Given the description of an element on the screen output the (x, y) to click on. 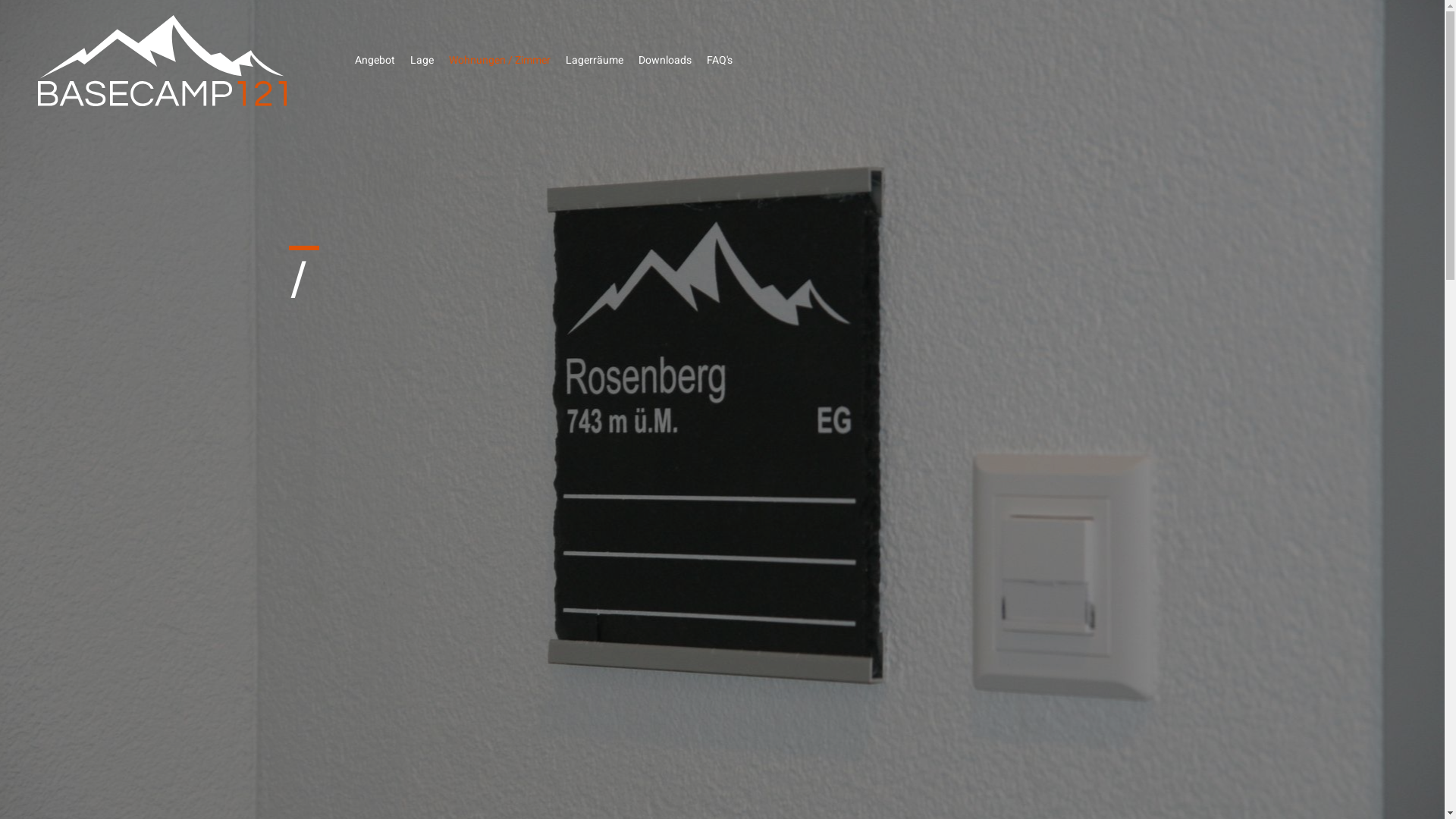
FAQ's Element type: text (719, 60)
Logo Basecamp 121 Element type: hover (161, 60)
Lage Element type: text (421, 60)
Wohnungen / Zimmer Element type: text (499, 60)
Downloads Element type: text (664, 60)
Angebot Element type: text (378, 60)
